Given the description of an element on the screen output the (x, y) to click on. 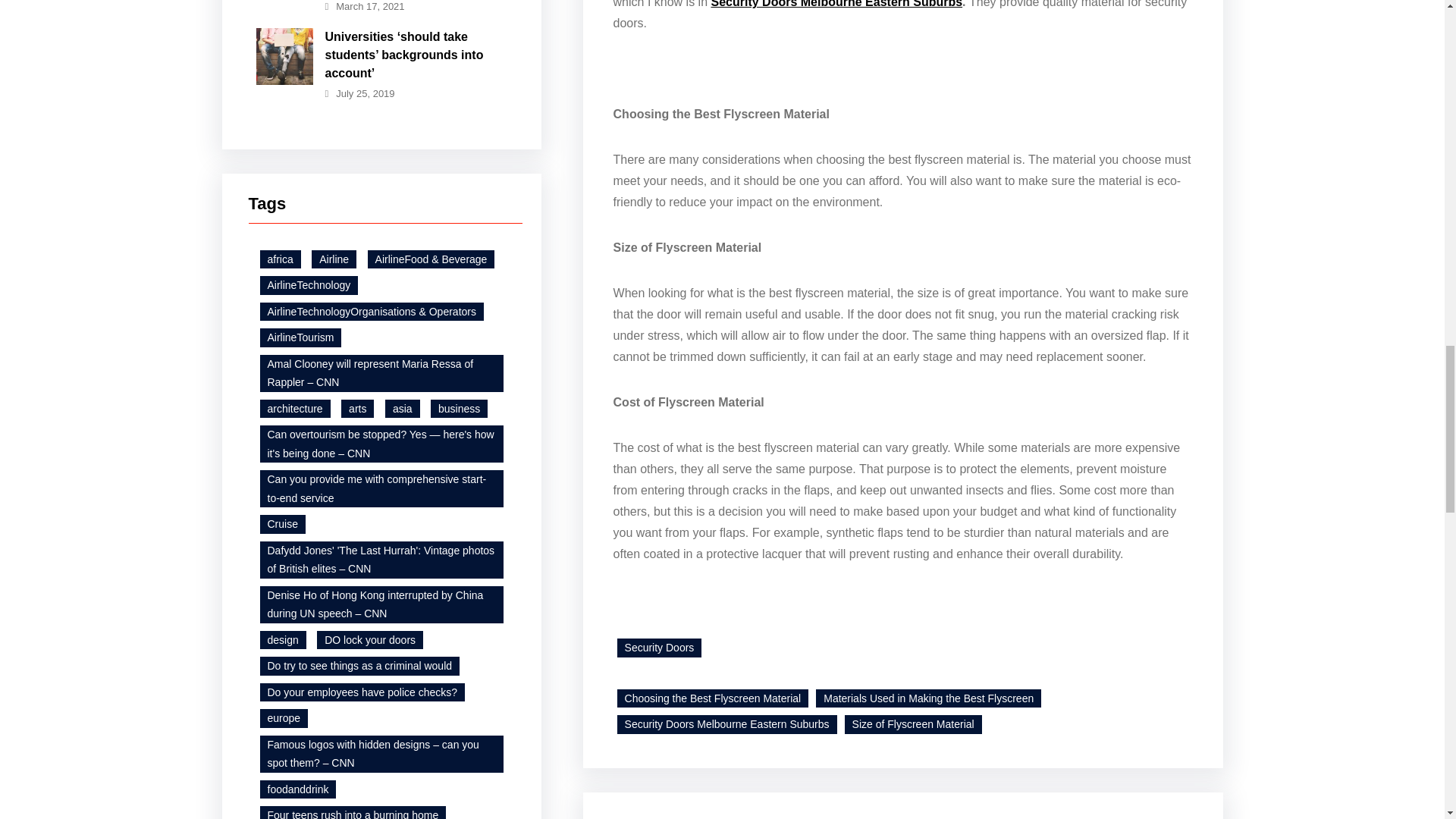
africa (279, 259)
